Given the description of an element on the screen output the (x, y) to click on. 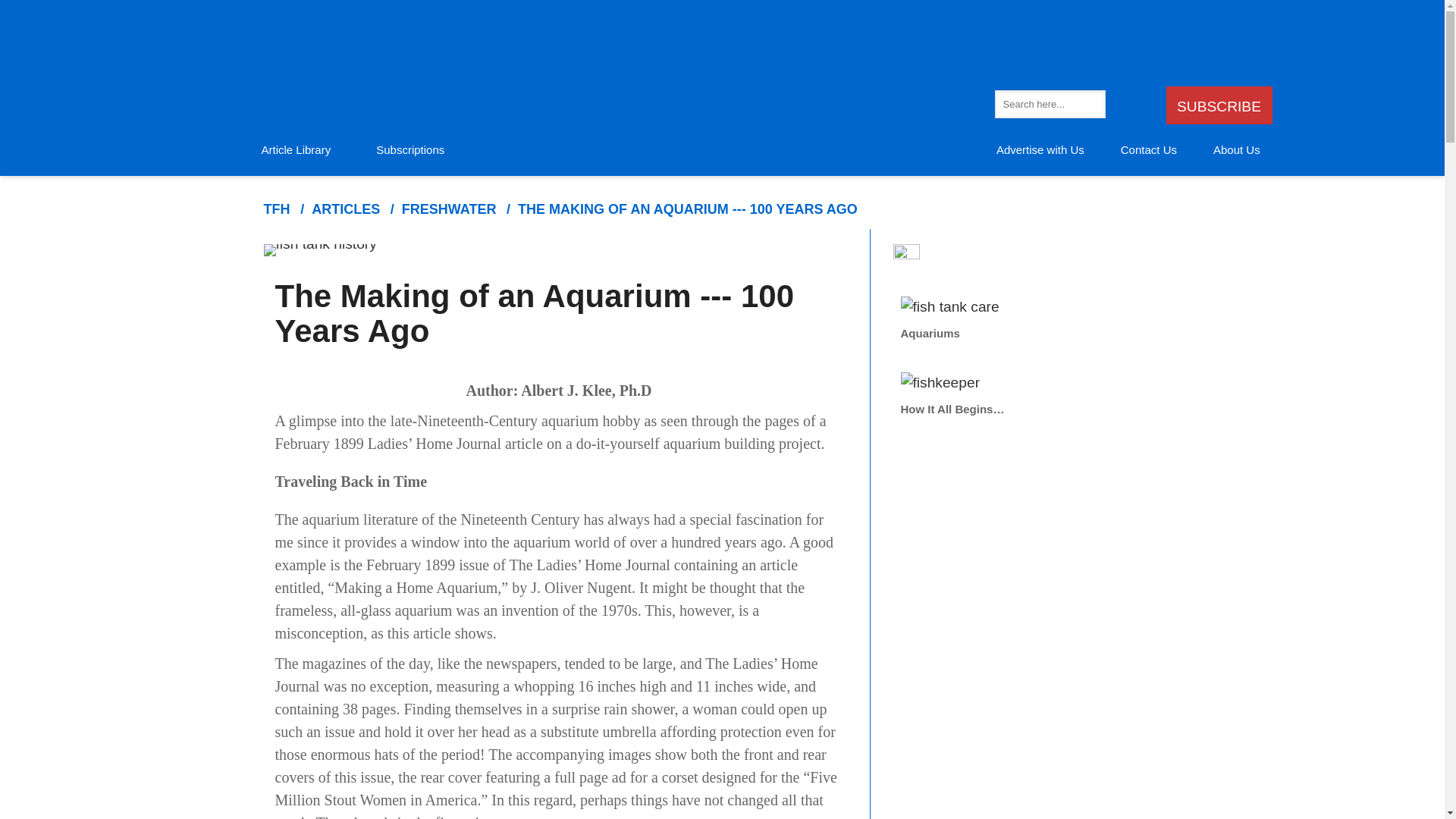
Contact Us (1148, 149)
ARTICLES (345, 209)
FRESHWATER (448, 209)
Aquariums (1037, 319)
Subscriptions (409, 149)
About Us (1236, 149)
freshwater (448, 209)
Home (276, 209)
THE MAKING OF AN AQUARIUM --- 100 YEARS AGO (687, 209)
articles (345, 209)
